Given the description of an element on the screen output the (x, y) to click on. 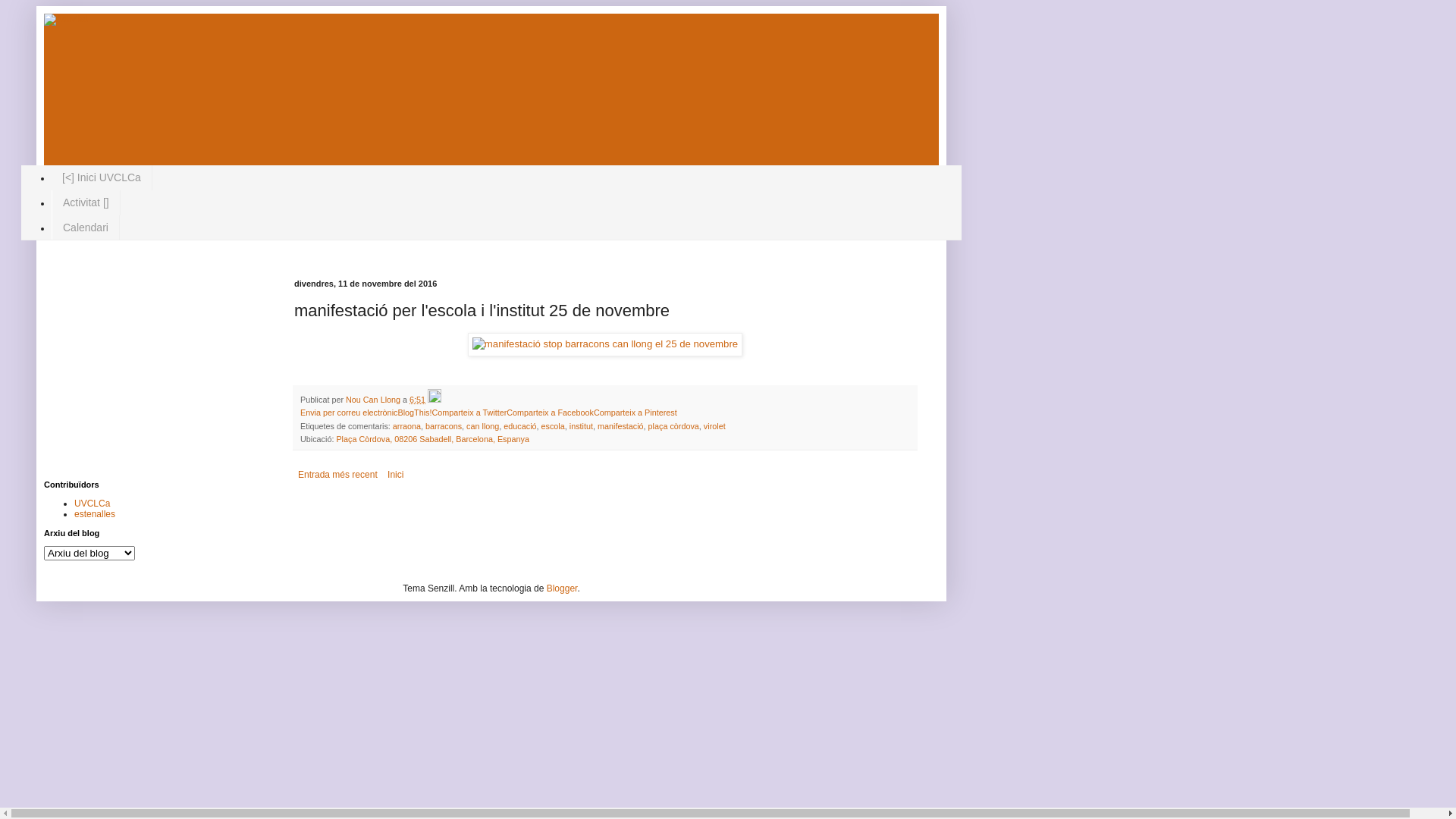
Activitat [] Element type: text (85, 202)
Blogger Element type: text (561, 588)
estenalles Element type: text (94, 513)
can llong Element type: text (482, 425)
Comparteix a Twitter Element type: text (468, 412)
barracons Element type: text (443, 425)
escola Element type: text (552, 425)
Modificar el missatge Element type: hover (434, 399)
UVCLCa Element type: text (91, 503)
arraona Element type: text (406, 425)
BlogThis! Element type: text (414, 412)
Nou Can Llong Element type: text (373, 399)
Comparteix a Facebook Element type: text (549, 412)
[<] Inici UVCLCa Element type: text (101, 177)
Comparteix a Pinterest Element type: text (635, 412)
6:51 Element type: text (417, 399)
virolet Element type: text (714, 425)
Inici Element type: text (395, 474)
Calendari Element type: text (85, 227)
institut Element type: text (581, 425)
